Given the description of an element on the screen output the (x, y) to click on. 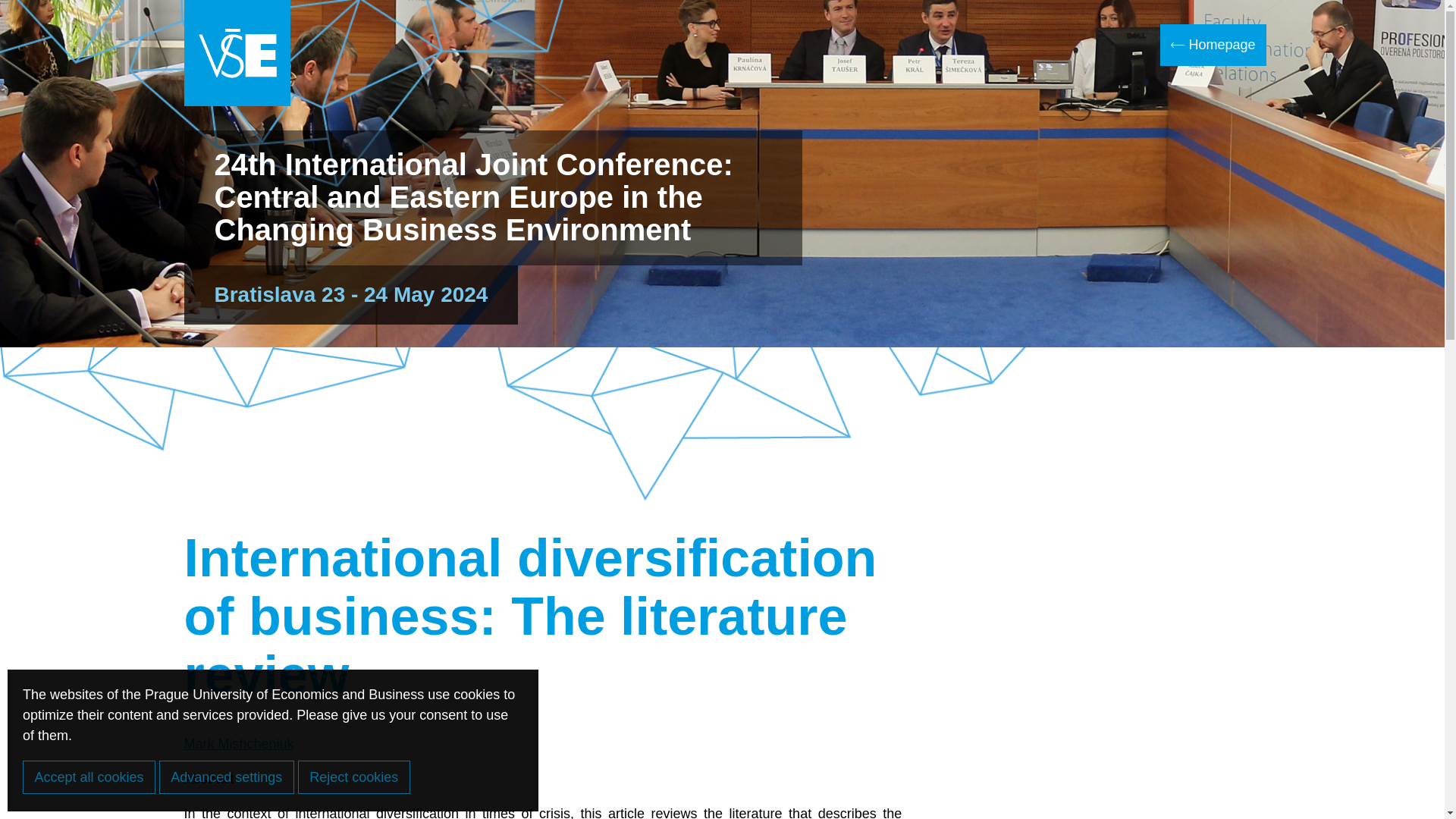
Advanced settings (226, 776)
Mark Mishcheniuk (238, 743)
Accept all cookies (89, 776)
Homepage (1213, 45)
Reject cookies (354, 776)
Prague University of Economics and Business (236, 53)
